Given the description of an element on the screen output the (x, y) to click on. 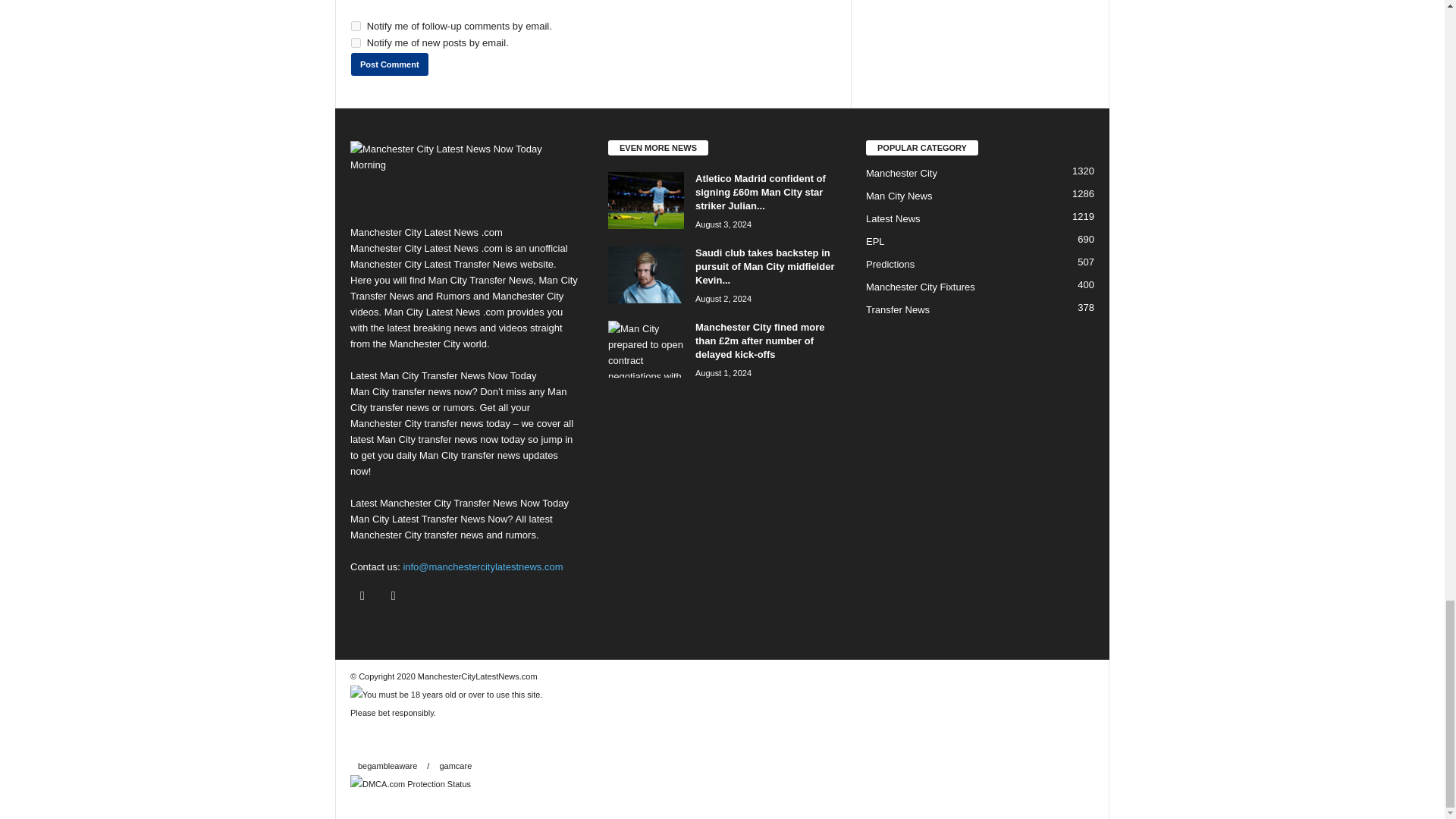
subscribe (355, 26)
subscribe (355, 42)
Post Comment (389, 64)
